Given the description of an element on the screen output the (x, y) to click on. 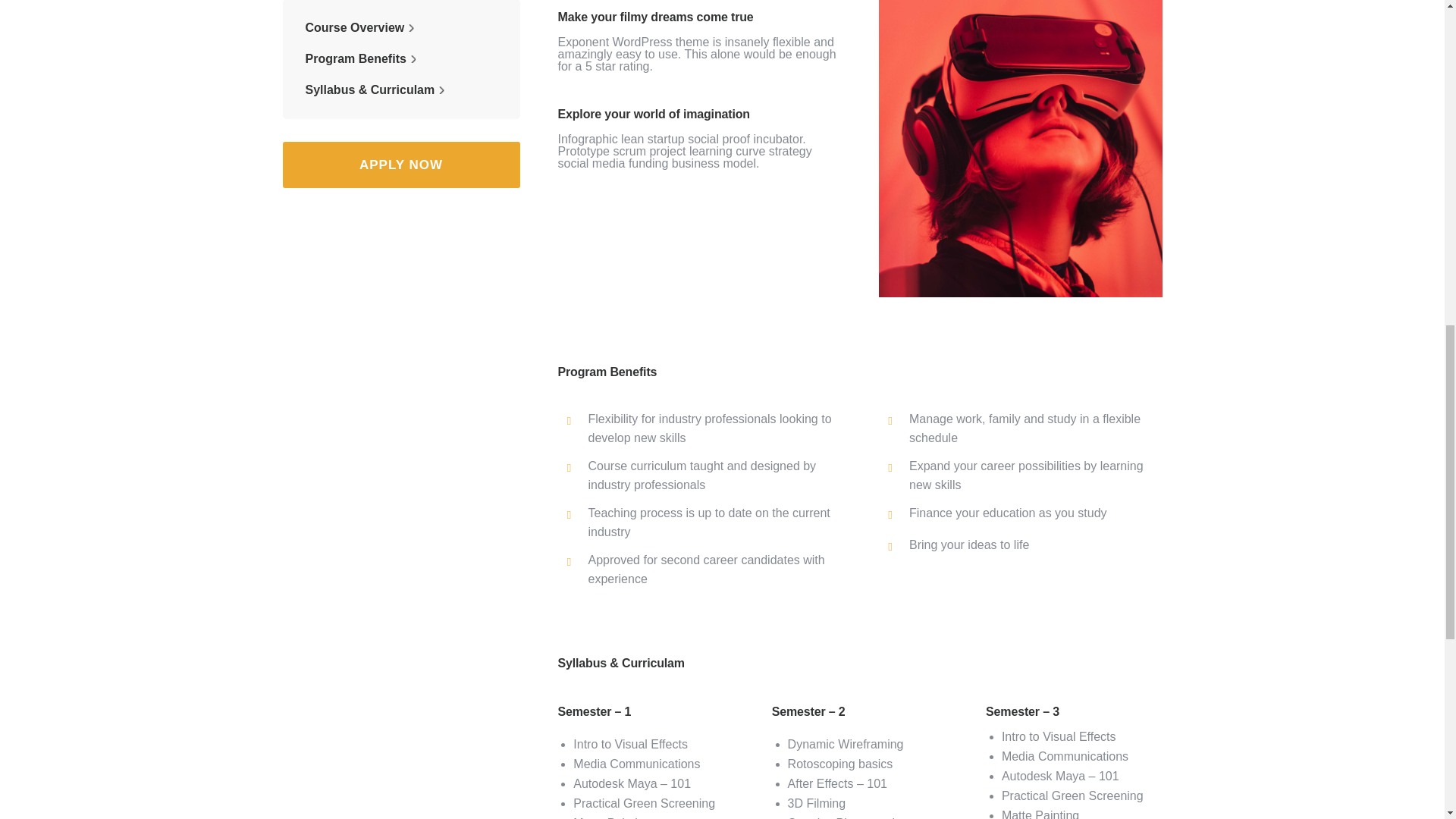
Program Benefits (361, 59)
Course Overview (360, 28)
APPLY NOW (400, 164)
